Given the description of an element on the screen output the (x, y) to click on. 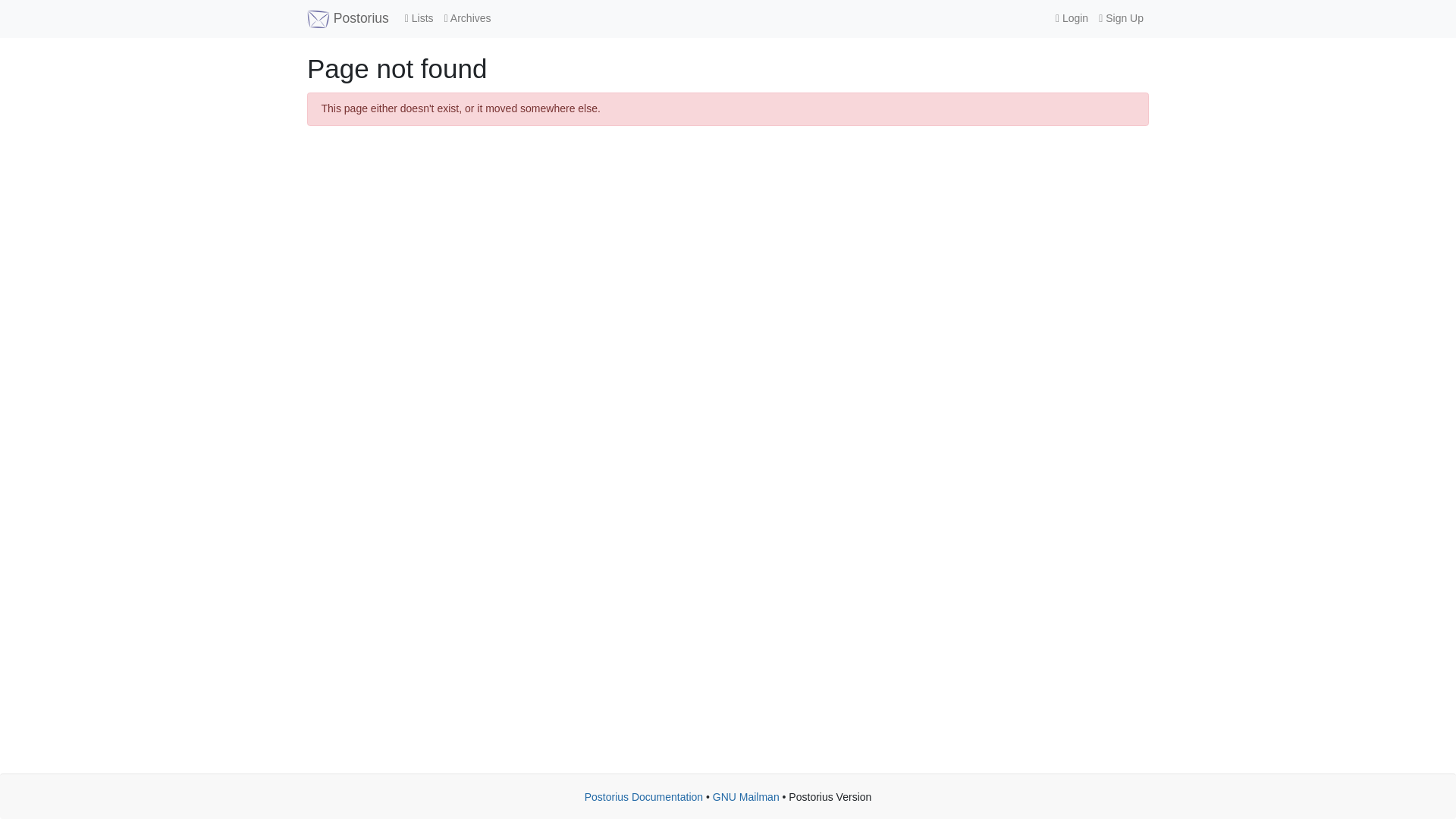
Postorius (347, 18)
Sign Up (1120, 17)
Login (1071, 17)
Lists (418, 17)
Archives (467, 17)
